Given the description of an element on the screen output the (x, y) to click on. 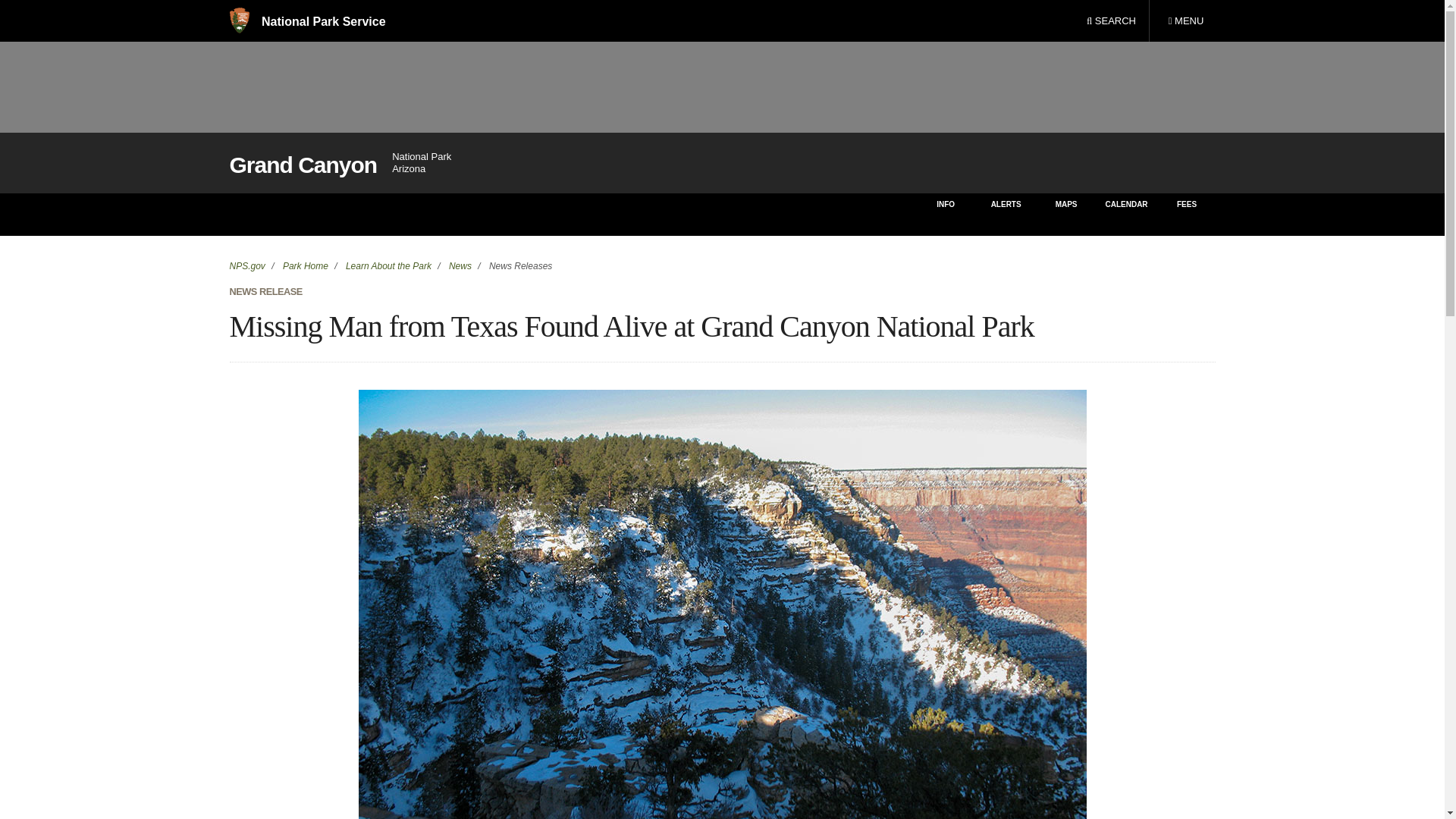
SEARCH (1111, 20)
Learn About the Park (386, 266)
Park Home (305, 266)
INFO (945, 214)
CALENDAR (1125, 214)
NPS.gov (246, 266)
MAPS (1185, 20)
News (1066, 214)
ALERTS (458, 266)
FEES (1004, 214)
Grand Canyon (1186, 214)
National Park Service (302, 164)
